Given the description of an element on the screen output the (x, y) to click on. 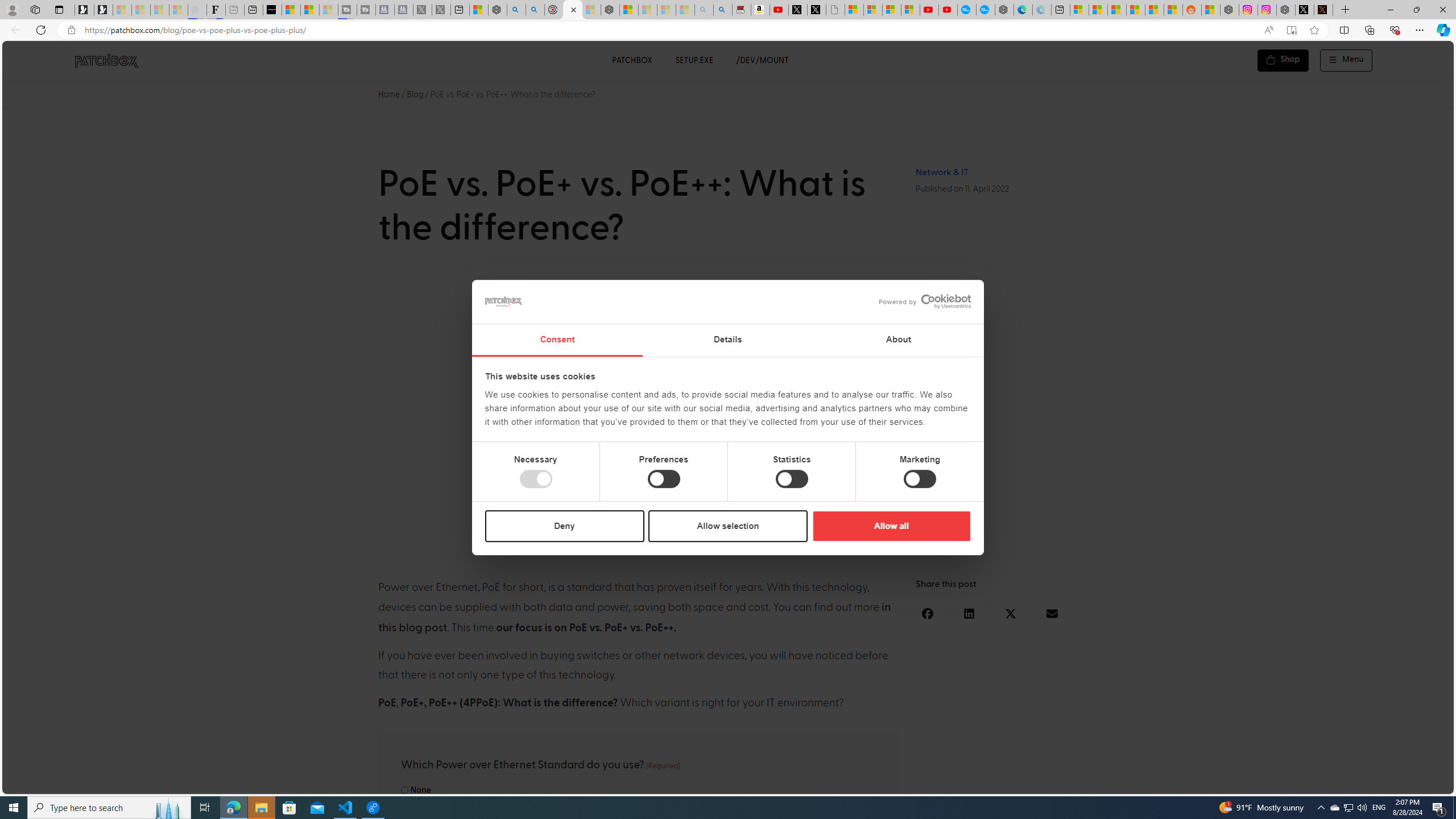
PATCHBOX - Simplify IT (106, 60)
Allow selection (727, 525)
poe ++ standard - Search (534, 9)
Allow all (890, 525)
Language switcher : Portuguese (1401, 782)
Language switcher : Dutch (1276, 782)
/DEV/MOUNT (762, 60)
